Given the description of an element on the screen output the (x, y) to click on. 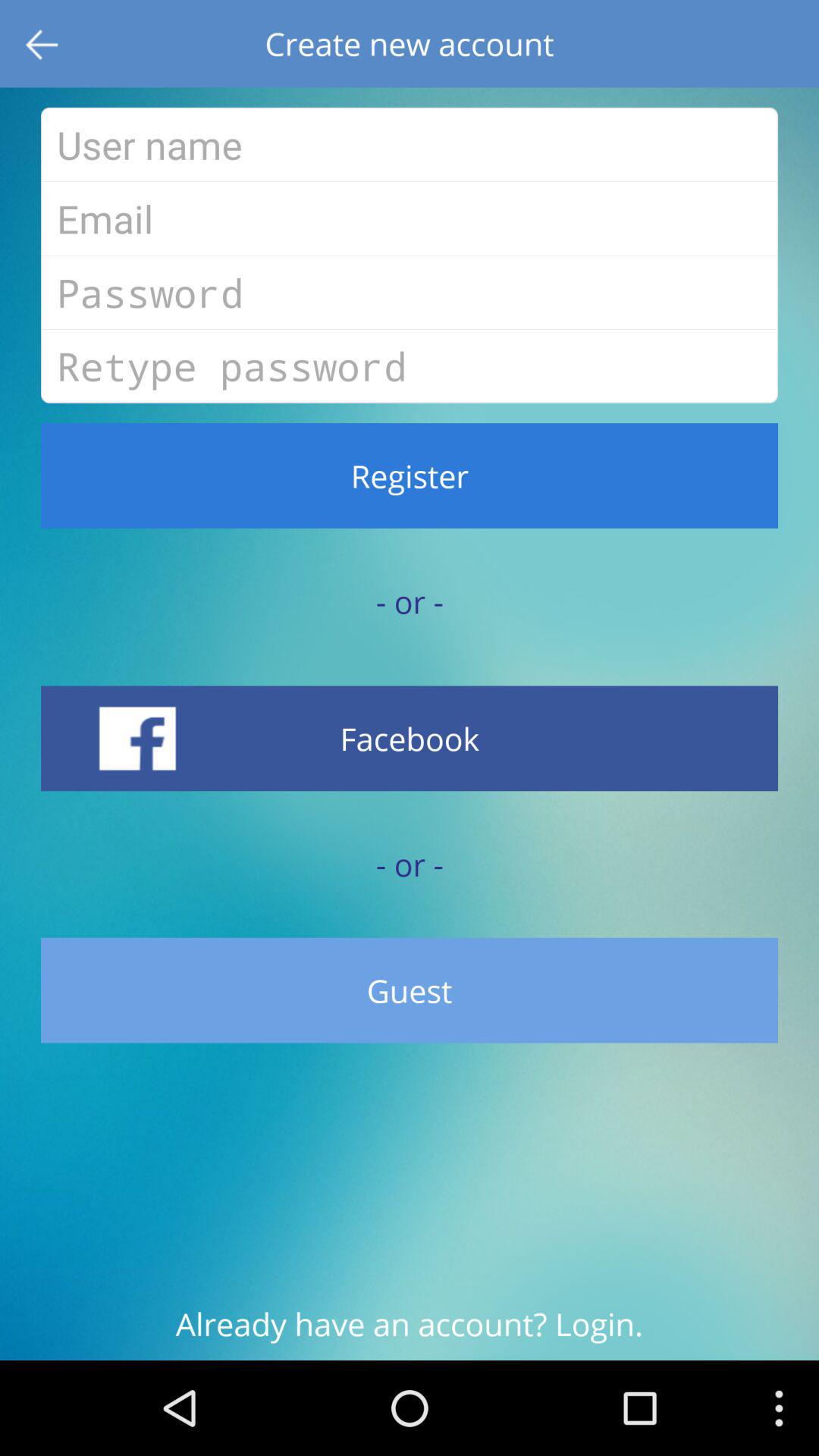
type email for new account (409, 218)
